Given the description of an element on the screen output the (x, y) to click on. 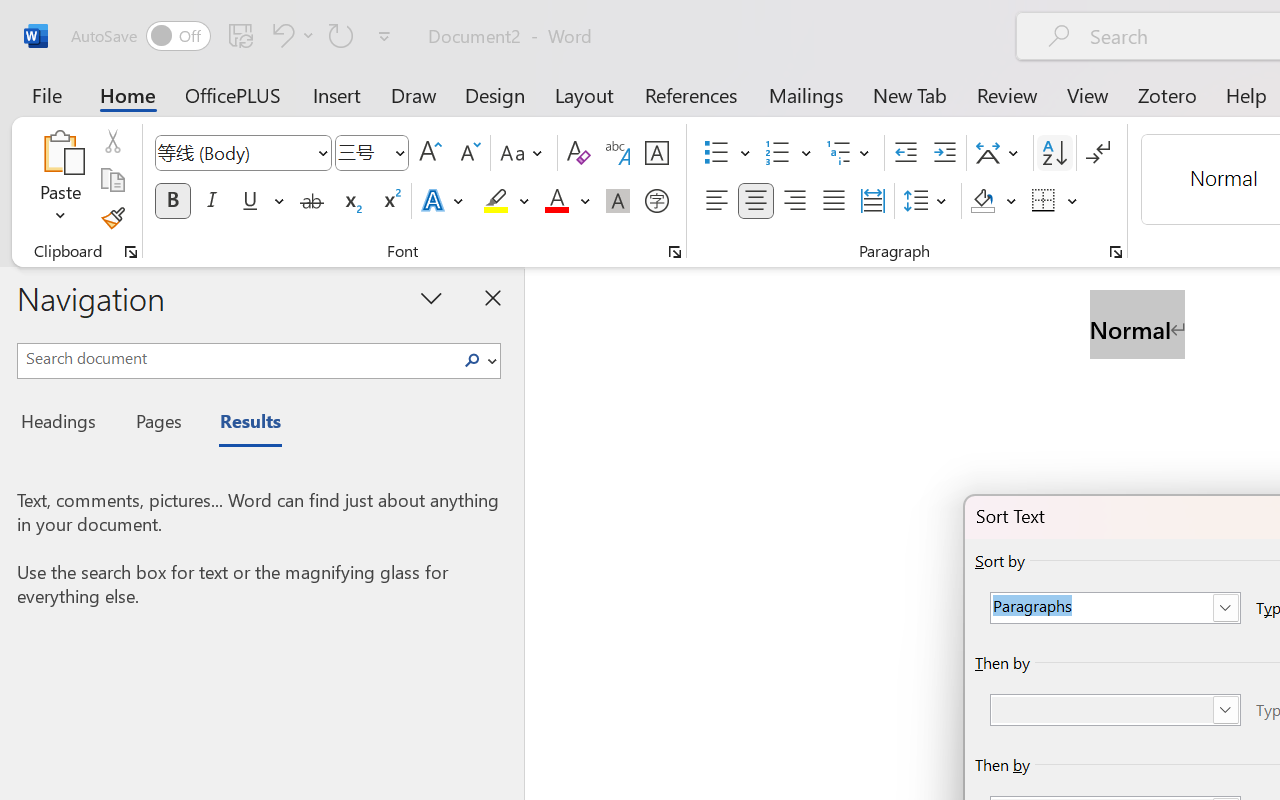
Superscript (390, 201)
Then by (1115, 710)
Enclose Characters... (656, 201)
Design (495, 94)
AutoSave (140, 35)
Task Pane Options (431, 297)
Borders (1055, 201)
Undo Style (280, 35)
Undo Style (290, 35)
Clear Formatting (578, 153)
Multilevel List (850, 153)
File Tab (46, 94)
